Given the description of an element on the screen output the (x, y) to click on. 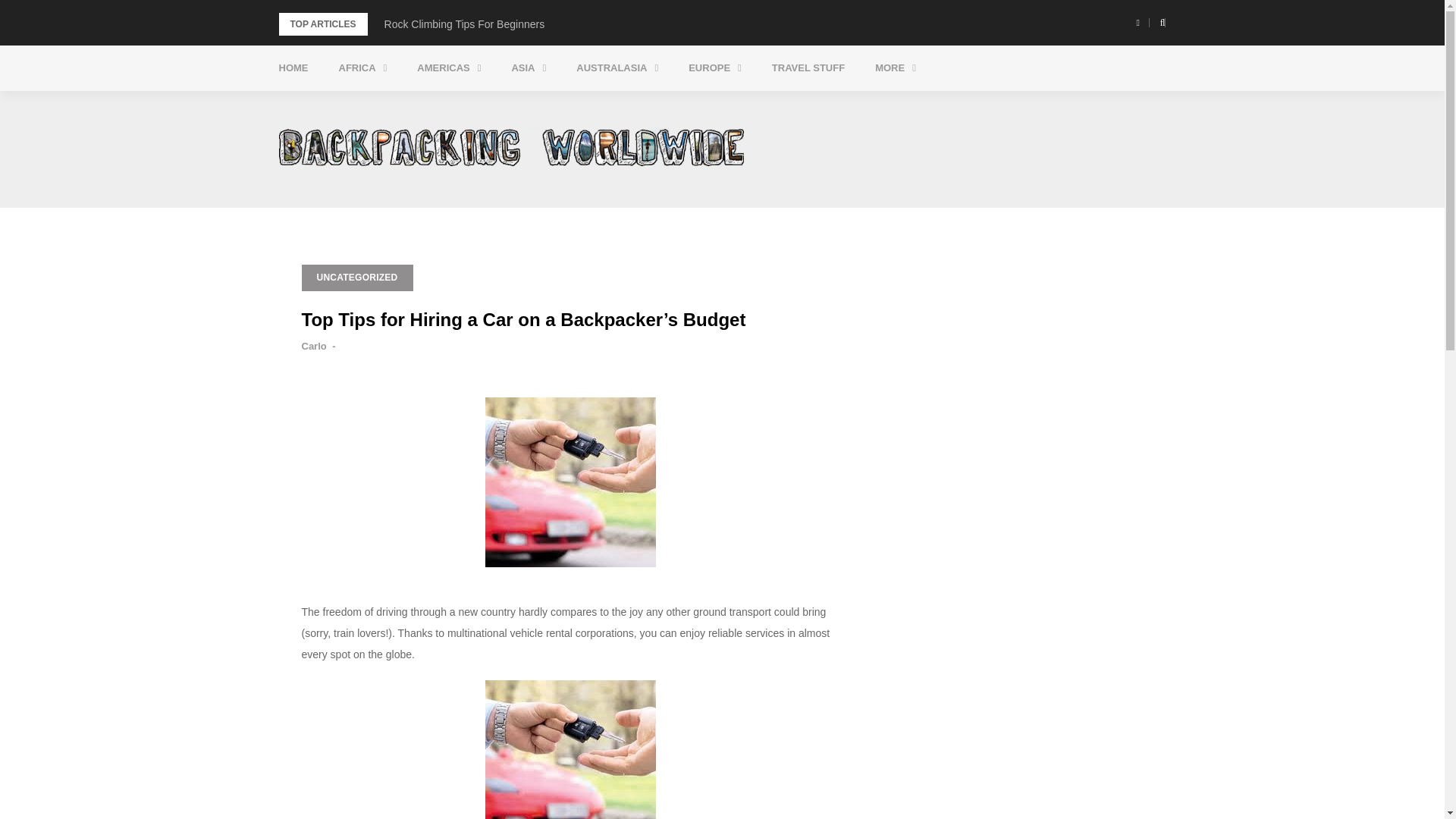
AFRICA (362, 67)
EUROPE (714, 67)
Middle East (598, 105)
ASIA (528, 67)
Belgium (775, 105)
Australia (662, 105)
Home (293, 67)
HOME (293, 67)
Belize (504, 105)
Algeria (425, 105)
Africa (362, 67)
AUSTRALASIA (616, 67)
Algeria (425, 105)
Rock Climbing Tips For Beginners (464, 24)
Rock Climbing Tips For Beginners (464, 24)
